Given the description of an element on the screen output the (x, y) to click on. 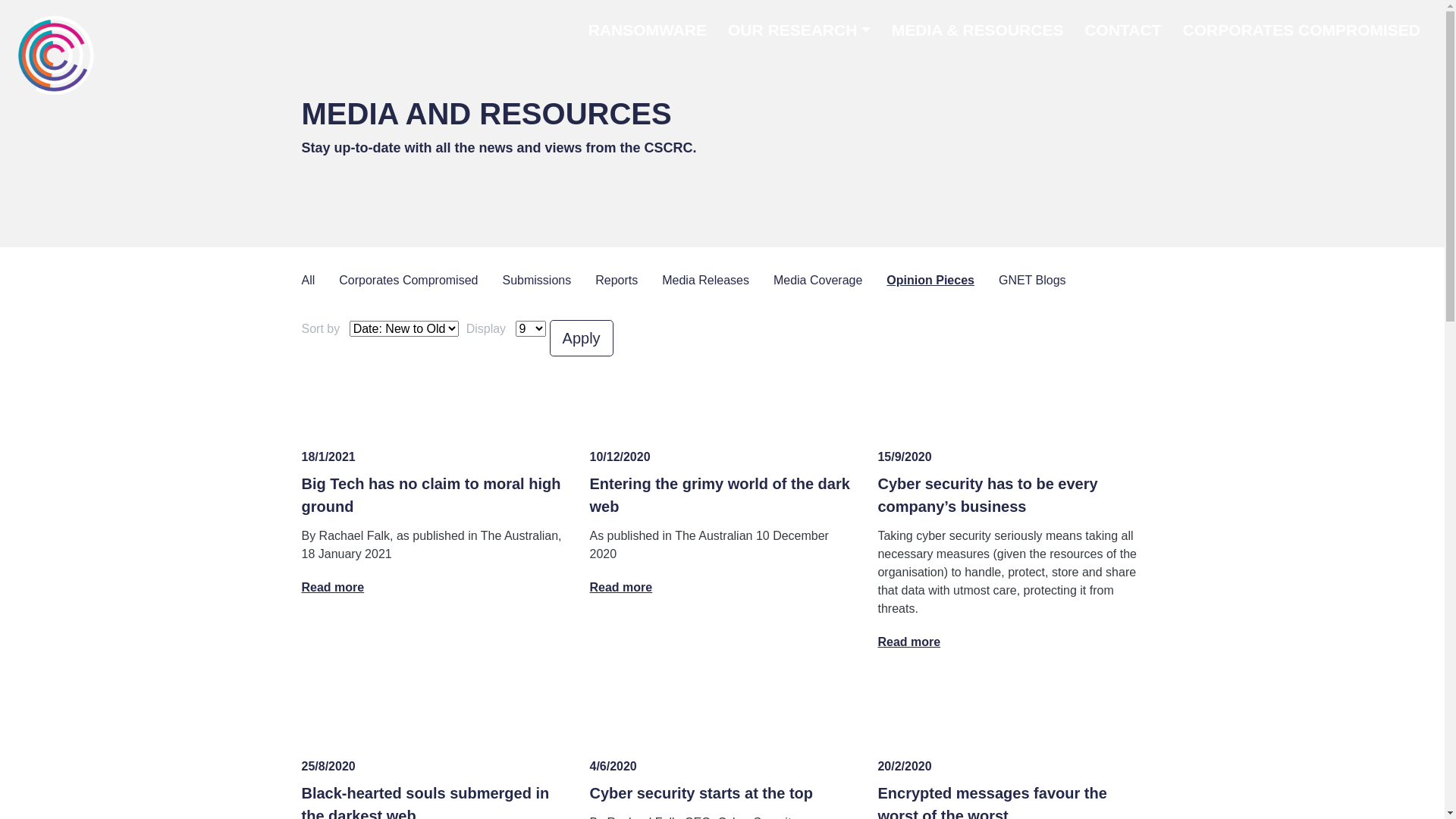
Cyber security starts at the top Element type: text (700, 792)
Cyber Security Cooperative Research Centre Element type: text (56, 55)
Media Coverage Element type: text (829, 279)
Big Tech has no claim to moral high ground Element type: text (431, 494)
Read more Element type: text (434, 587)
Apply Element type: text (581, 338)
All Element type: text (320, 279)
CONTACT Element type: text (1122, 30)
Entering the grimy world of the dark web Element type: text (719, 494)
Skip to main content Element type: text (721, 1)
CORPORATES COMPROMISED Element type: text (1301, 30)
RANSOMWARE Element type: text (647, 30)
Reports Element type: text (628, 279)
Submissions Element type: text (548, 279)
MEDIA & RESOURCES Element type: text (977, 30)
Corporates Compromised Element type: text (420, 279)
Read more Element type: text (721, 587)
Media Releases Element type: text (717, 279)
OUR RESEARCH Element type: text (798, 30)
Read more Element type: text (1009, 642)
GNET Blogs Element type: text (1044, 279)
Opinion Pieces Element type: text (942, 279)
